Given the description of an element on the screen output the (x, y) to click on. 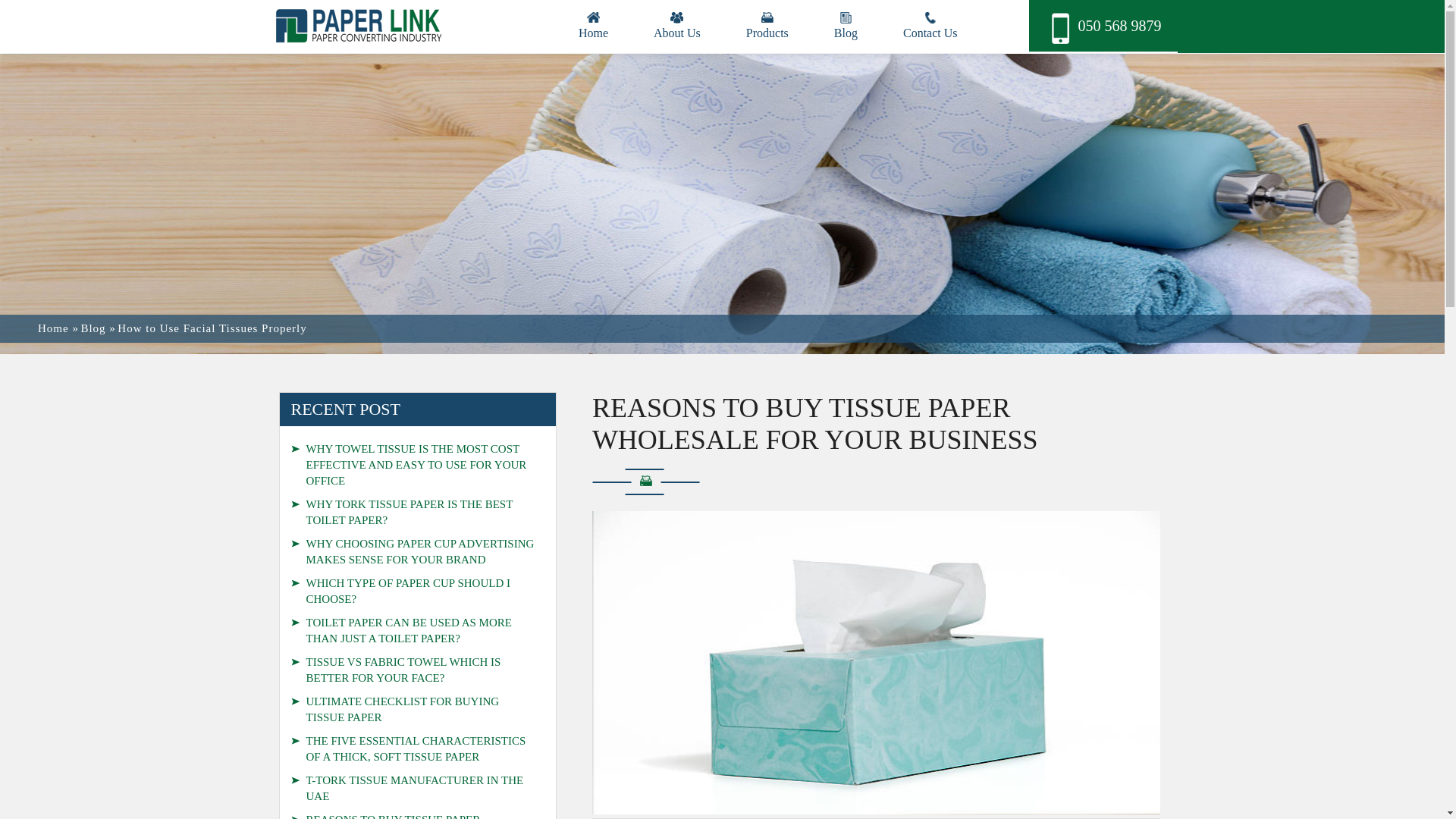
TOILET PAPER CAN BE USED AS MORE THAN JUST A TOILET PAPER? (417, 345)
050 568 9879 (1105, 25)
T-TORK TISSUE MANUFACTURER IN THE UAE (417, 596)
About Us (676, 20)
TISSUE VS FABRIC TOWEL WHICH IS BETTER FOR YOUR FACE? (417, 418)
ULTIMATE CHECKLIST FOR BUYING TISSUE PAPER (417, 482)
Blog (845, 20)
Contact Us (929, 20)
REASONS TO BUY TISSUE PAPER WHOLESALE FOR YOUR BUSINESS (417, 649)
Home (593, 20)
Products (766, 20)
